Given the description of an element on the screen output the (x, y) to click on. 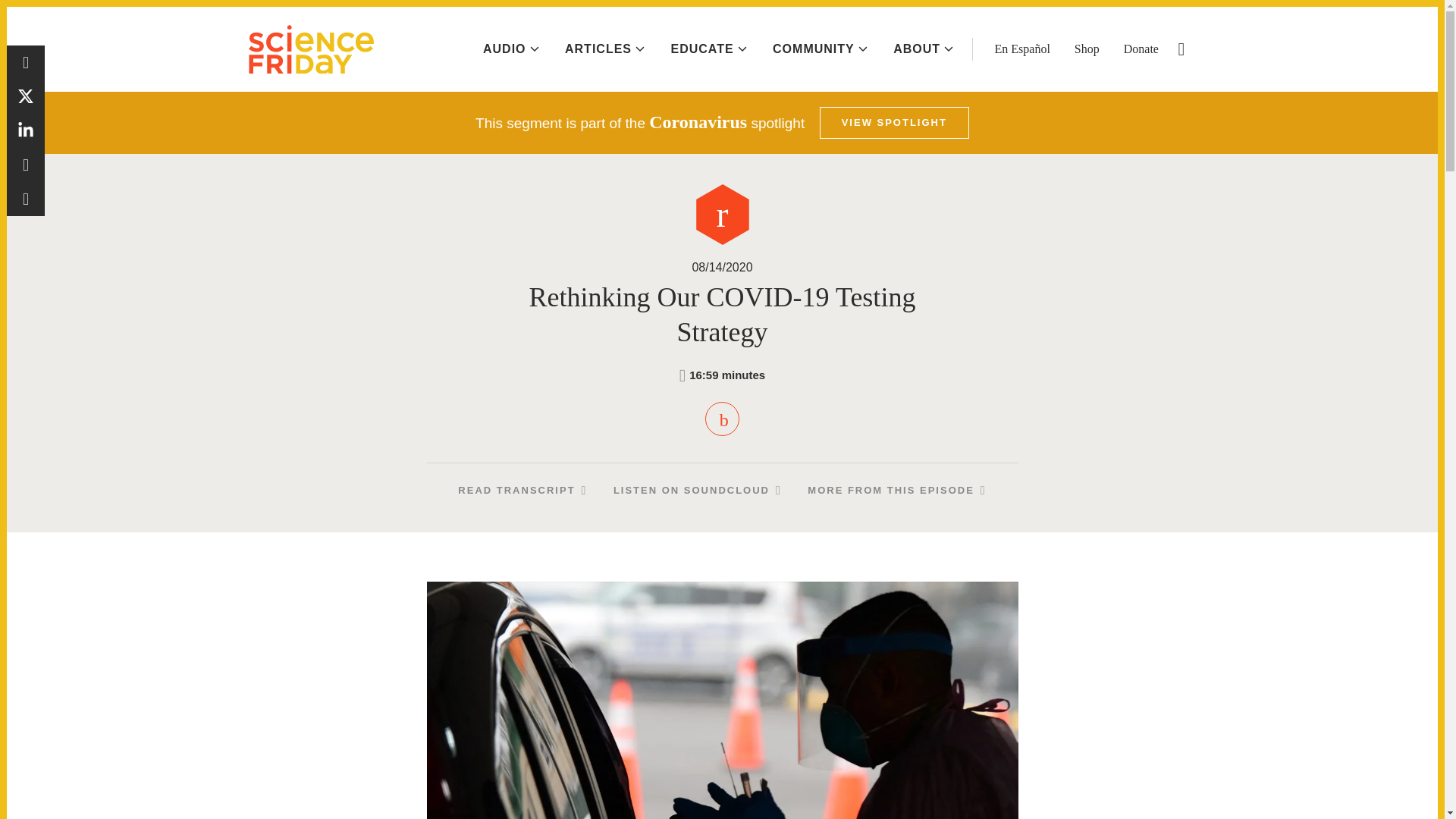
ARTICLES (604, 48)
Rethinking Our COVID-19 Testing Strategy (721, 418)
LinkedIn (26, 130)
LATEST EPISODE (1360, 20)
Facebook (26, 62)
Reddit (26, 164)
Shop (1086, 48)
ABOUT (923, 48)
Email (26, 198)
Facebook (26, 62)
VIEW SPOTLIGHT (894, 122)
Donate (1141, 48)
AUDIO (510, 48)
Email (26, 198)
More from this episode (896, 490)
